Given the description of an element on the screen output the (x, y) to click on. 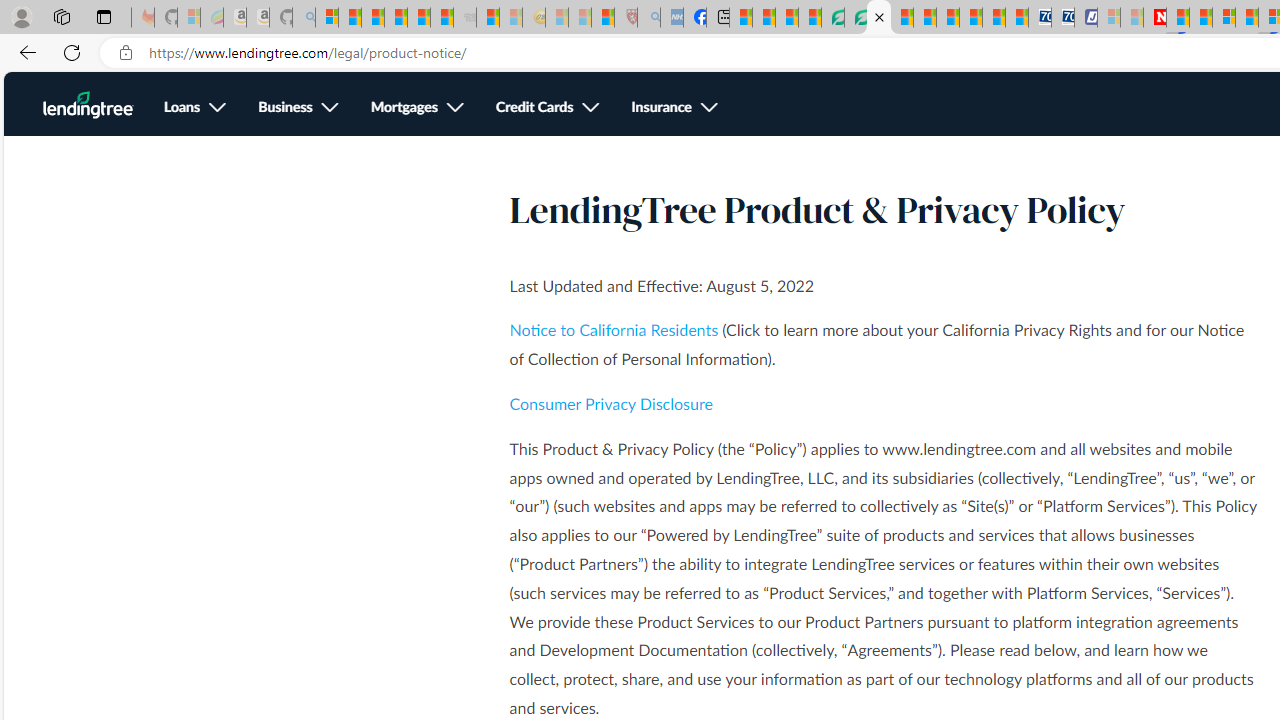
LendingTree Homepage Logo (88, 105)
Credit Cards, see more (548, 107)
